Given the description of an element on the screen output the (x, y) to click on. 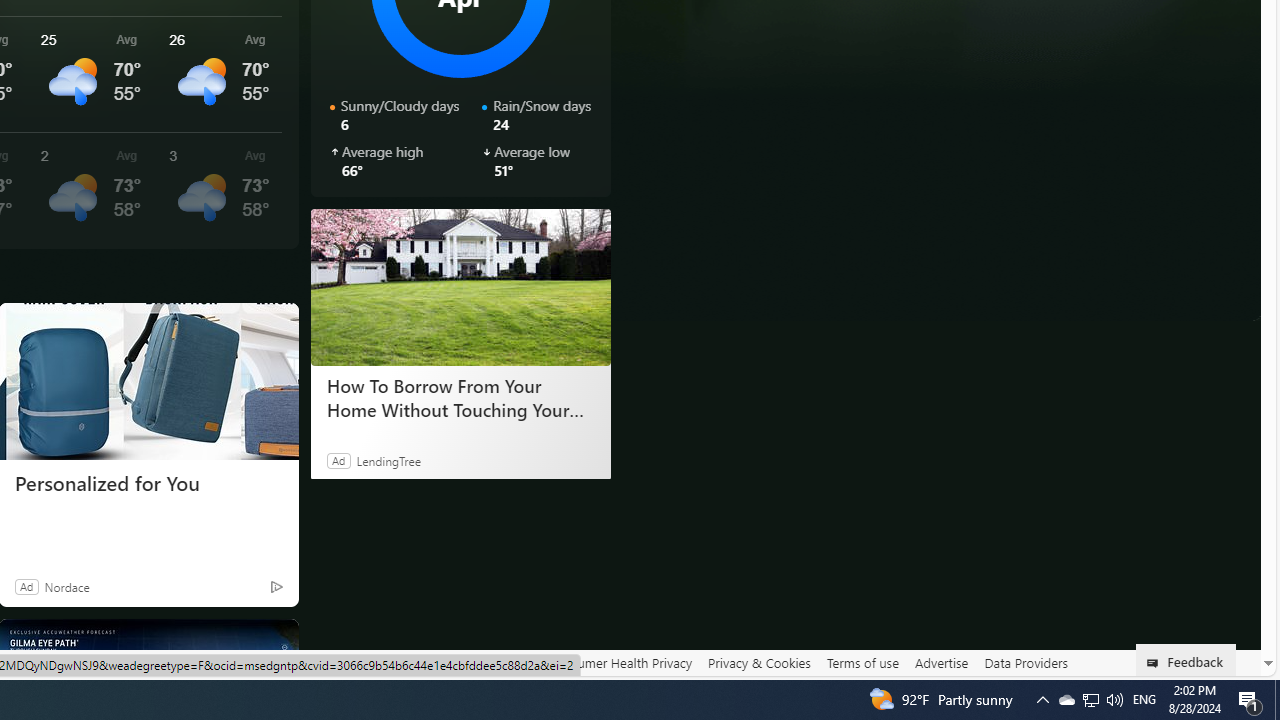
Personalized for You (148, 484)
Advertise (940, 663)
Privacy & Cookies (759, 663)
Consumer Health Privacy (619, 663)
How To Borrow From Your Home Without Touching Your Mortgage (459, 286)
Class: feedback_link_icon-DS-EntryPoint1-1 (1156, 663)
Data Providers (1025, 663)
Data Providers (1025, 662)
How To Borrow From Your Home Without Touching Your Mortgage (460, 397)
